Given the description of an element on the screen output the (x, y) to click on. 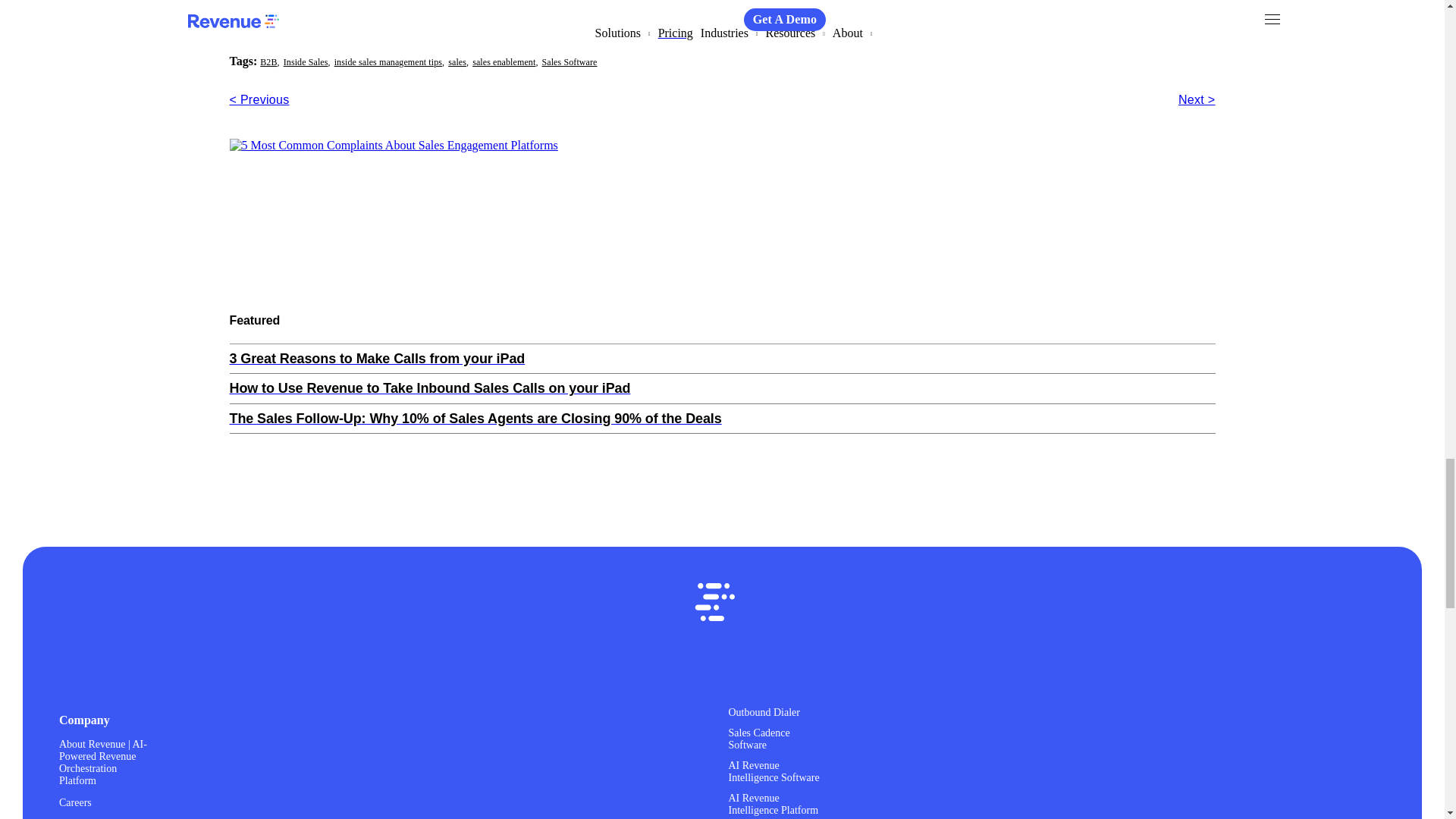
Partnerships (85, 818)
Inside Sales (314, 38)
Sales Software (568, 61)
How to Use Revenue to Take Inbound Sales Calls on your iPad (721, 388)
our free eBook (497, 2)
B2B (268, 61)
Sales Strategy (369, 38)
inside sales management tips (388, 61)
3 Great Reasons to Make Calls from your iPad (721, 358)
sales (456, 61)
sales enablement (503, 61)
Inside Sales (306, 61)
Careers (75, 801)
